Given the description of an element on the screen output the (x, y) to click on. 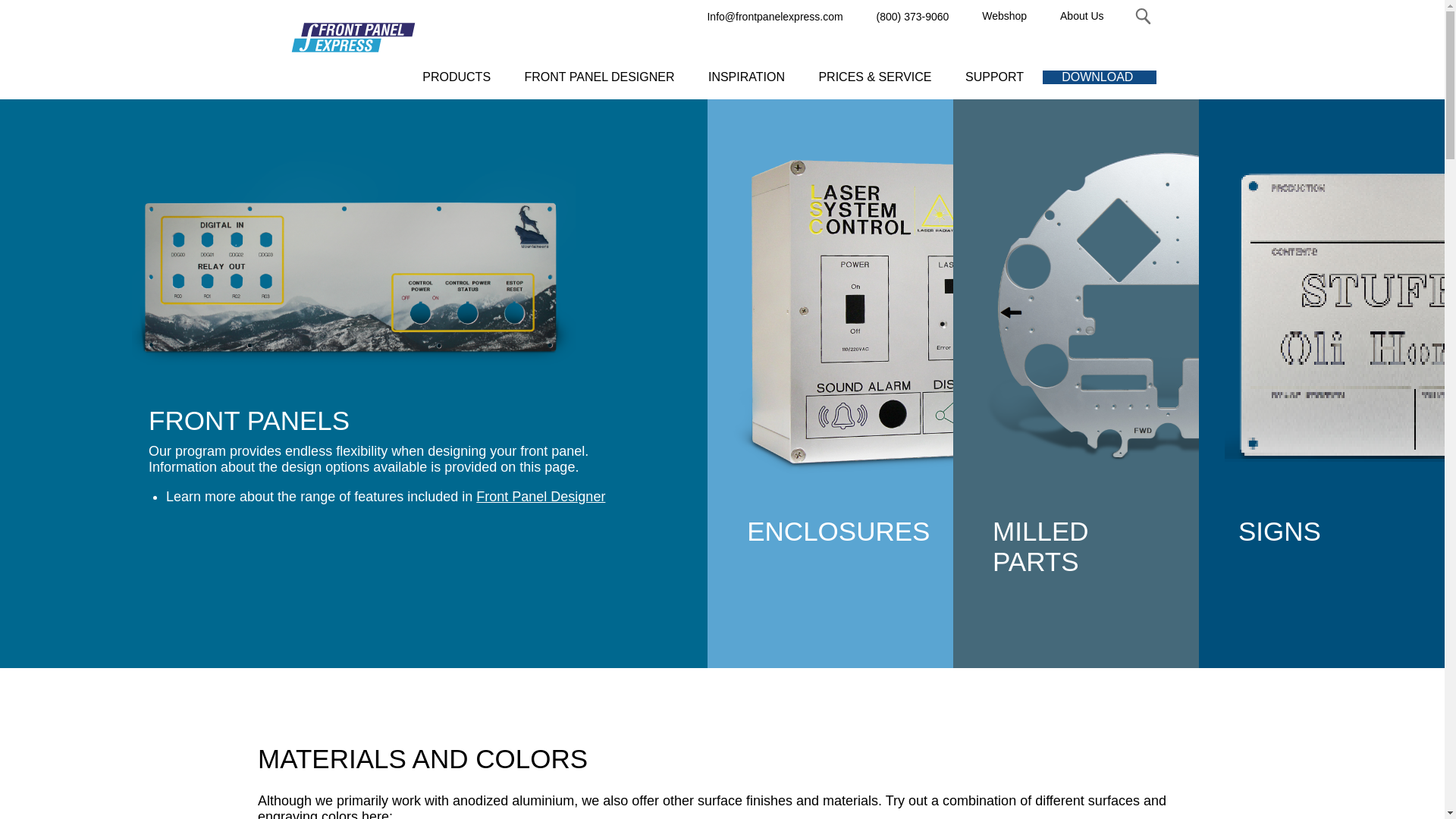
Webshop (1004, 15)
FRONT PANEL DESIGNER (599, 76)
About Us (1082, 15)
SUPPORT (994, 76)
INSPIRATION (745, 76)
PRODUCTS (456, 76)
